Given the description of an element on the screen output the (x, y) to click on. 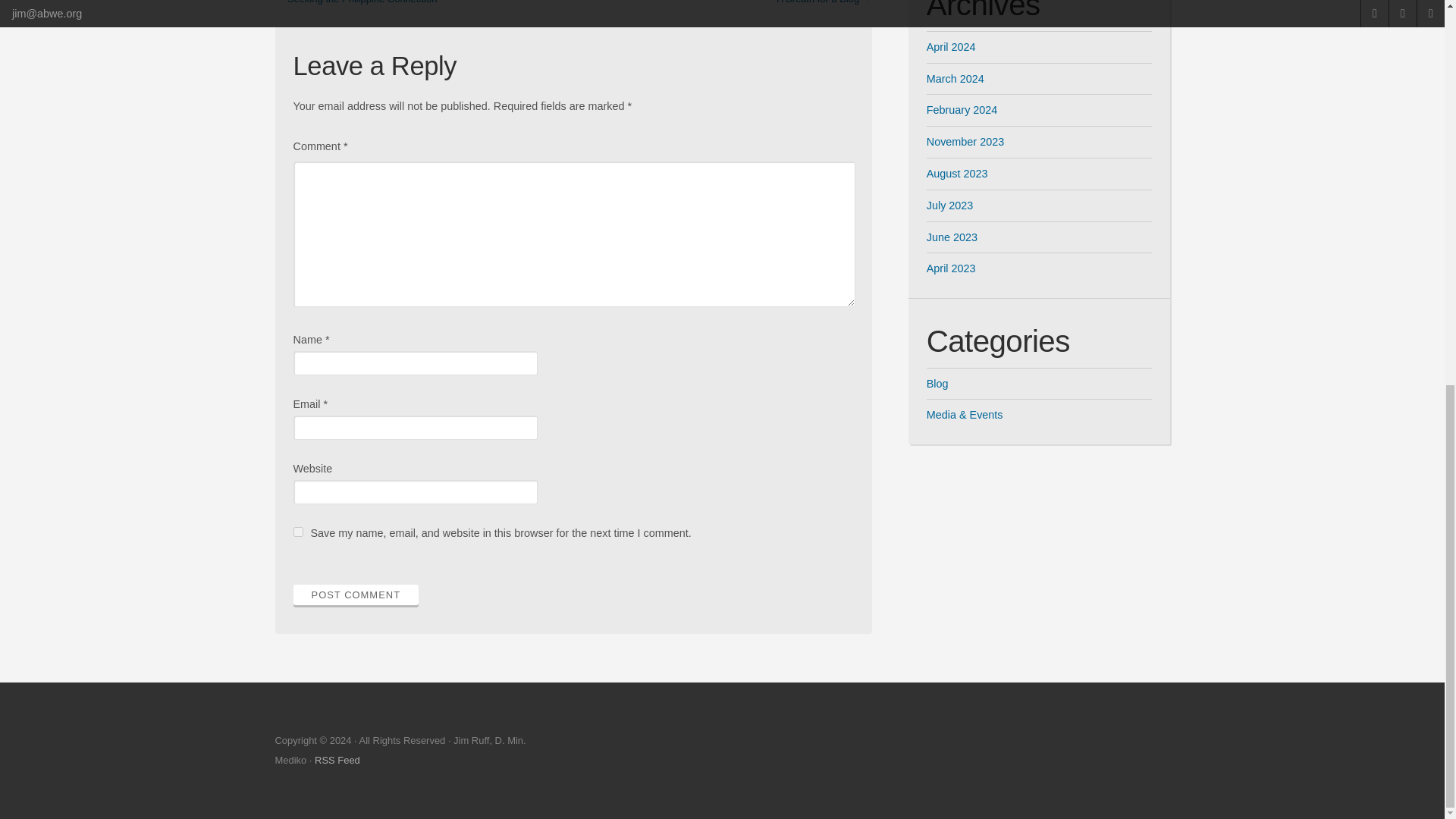
March 2024 (955, 78)
April 2024 (950, 46)
February 2024 (961, 110)
yes (297, 532)
November 2023 (965, 141)
June 2023 (951, 236)
Post Comment (355, 594)
August 2023 (957, 173)
July 2023 (950, 205)
Blog (937, 383)
